Given the description of an element on the screen output the (x, y) to click on. 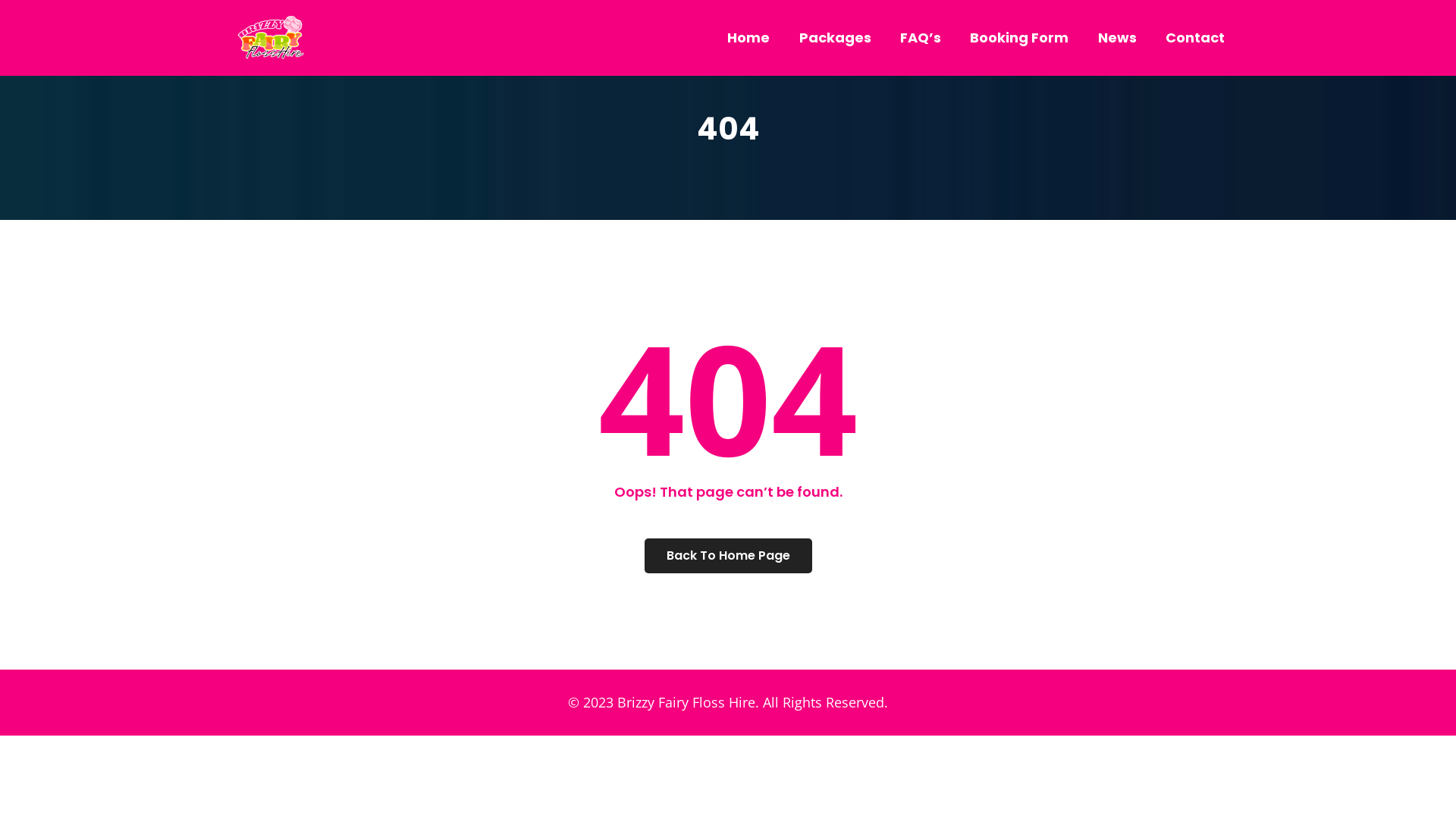
Back To Home Page Element type: text (728, 555)
Packages Element type: text (835, 37)
News Element type: text (1117, 37)
Booking Form Element type: text (1018, 37)
Brizzy Fairy Floss Machine Hire Element type: hover (270, 38)
Home Element type: text (748, 37)
Contact Element type: text (1194, 37)
